Given the description of an element on the screen output the (x, y) to click on. 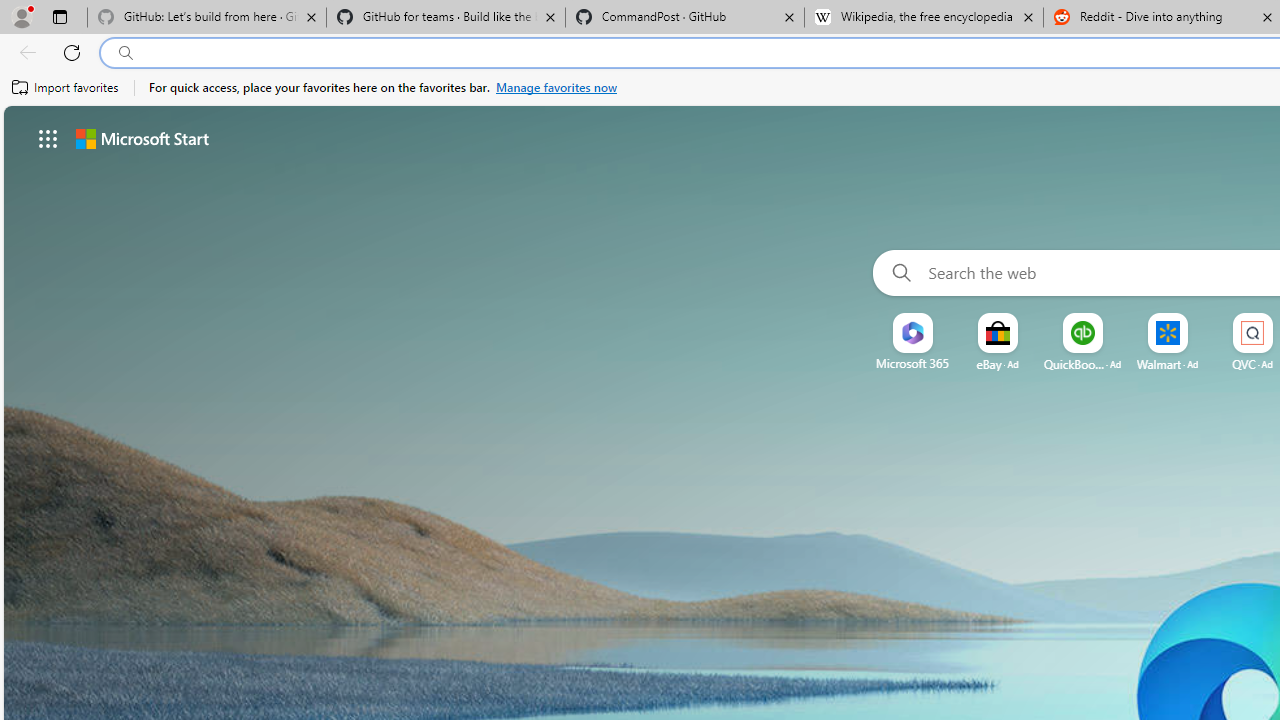
App launcher (47, 138)
Wikipedia, the free encyclopedia (924, 17)
Import favorites (65, 88)
